Given the description of an element on the screen output the (x, y) to click on. 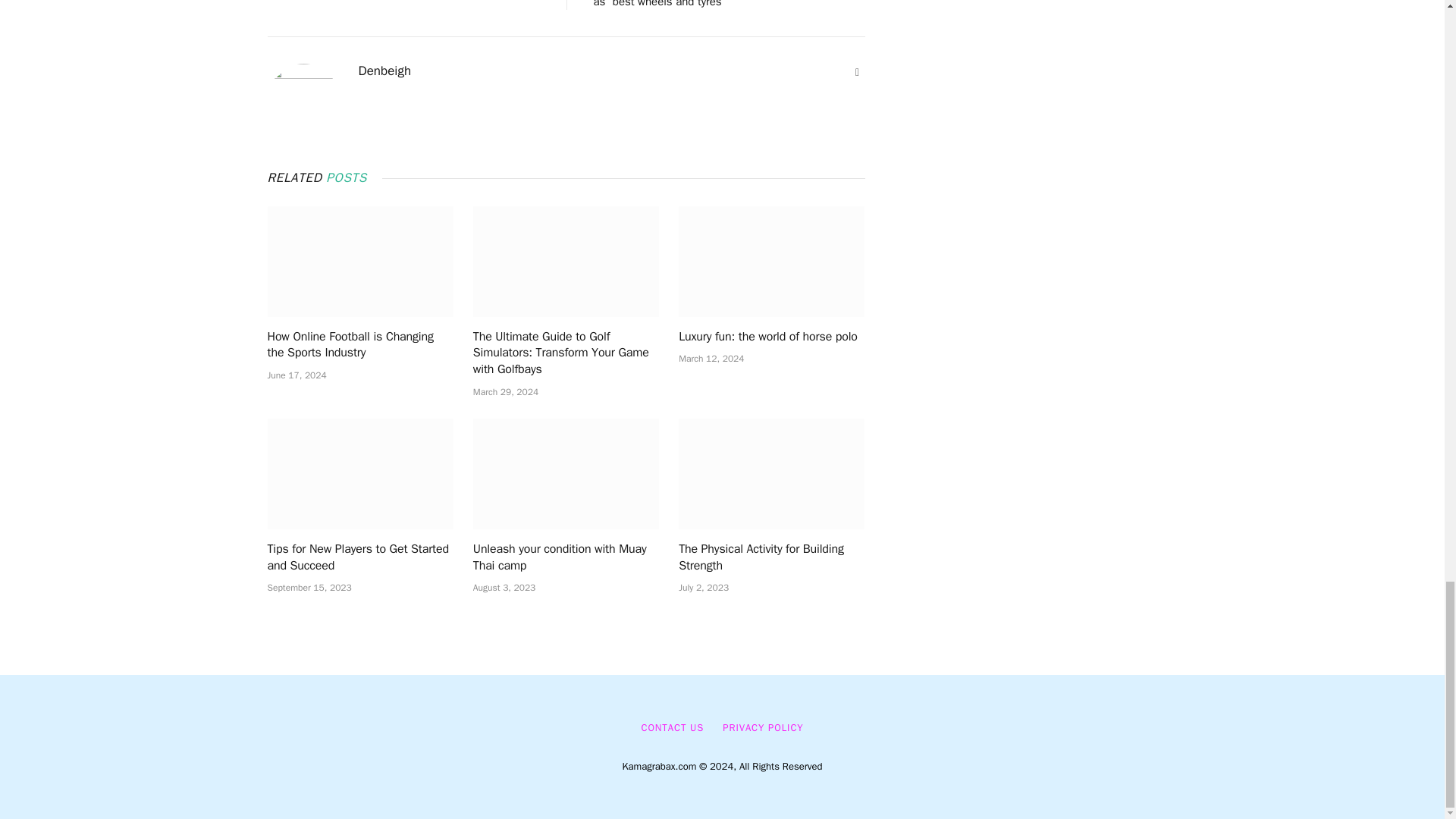
Unleash your condition with Muay Thai camp (566, 473)
Tips for New Players to Get Started and Succeed (359, 473)
Website (856, 72)
Denbeigh (384, 70)
Posts by Denbeigh (384, 70)
Website (856, 72)
The Physical Activity for Building Strength (771, 473)
Luxury fun: the world of horse polo (771, 260)
How Online Football is Changing the Sports Industry (359, 260)
